Given the description of an element on the screen output the (x, y) to click on. 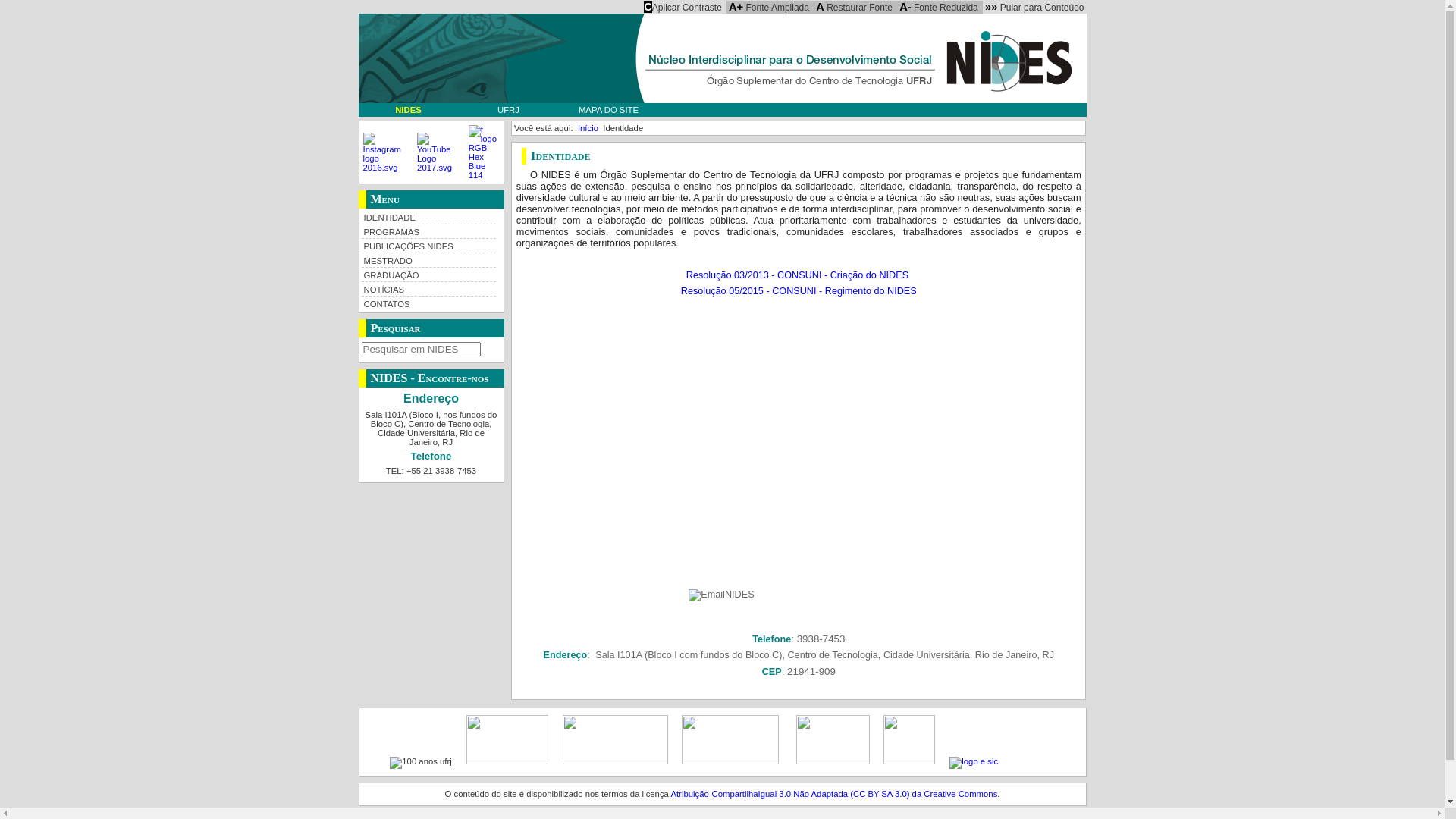
MESTRADO Element type: text (427, 259)
IDENTIDADE Element type: text (427, 216)
YouTube video player Element type: hover (798, 435)
PROGRAMAS Element type: text (427, 230)
NIDES Element type: text (407, 109)
A- Fonte Reduzida Element type: text (938, 6)
MAPA DO SITE Element type: text (608, 109)
A Restaurar Fonte Element type: text (853, 6)
CAplicar Contraste Element type: text (682, 6)
UFRJ Element type: text (508, 109)
A+ Fonte Ampliada Element type: text (768, 6)
CONTATOS Element type: text (427, 302)
